Given the description of an element on the screen output the (x, y) to click on. 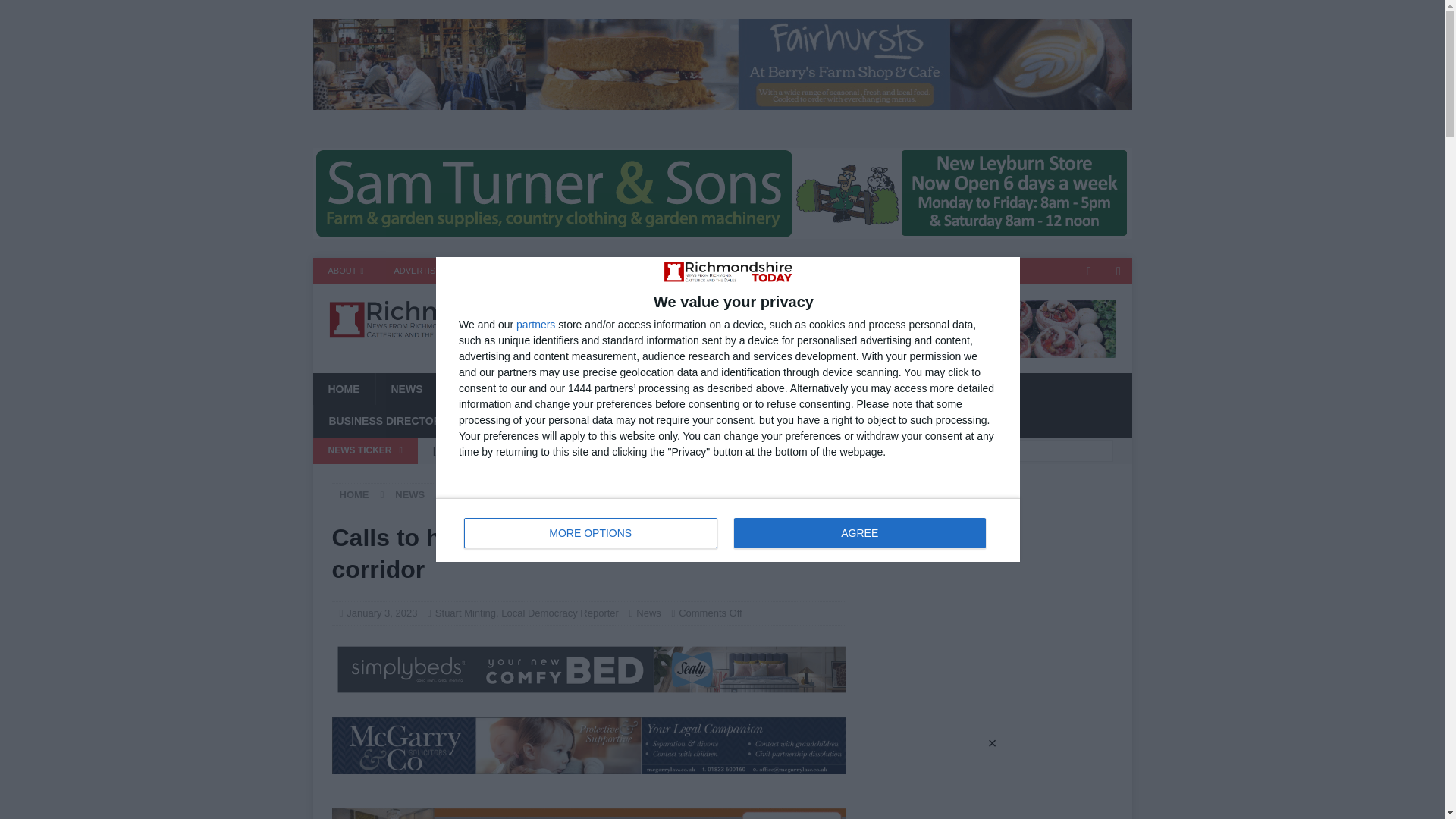
AGREE (859, 532)
ABOUT (345, 270)
partners (535, 324)
MAGAZINE (566, 270)
ADVERTISE (416, 270)
MORE OPTIONS (590, 532)
CONTACT (727, 529)
